Given the description of an element on the screen output the (x, y) to click on. 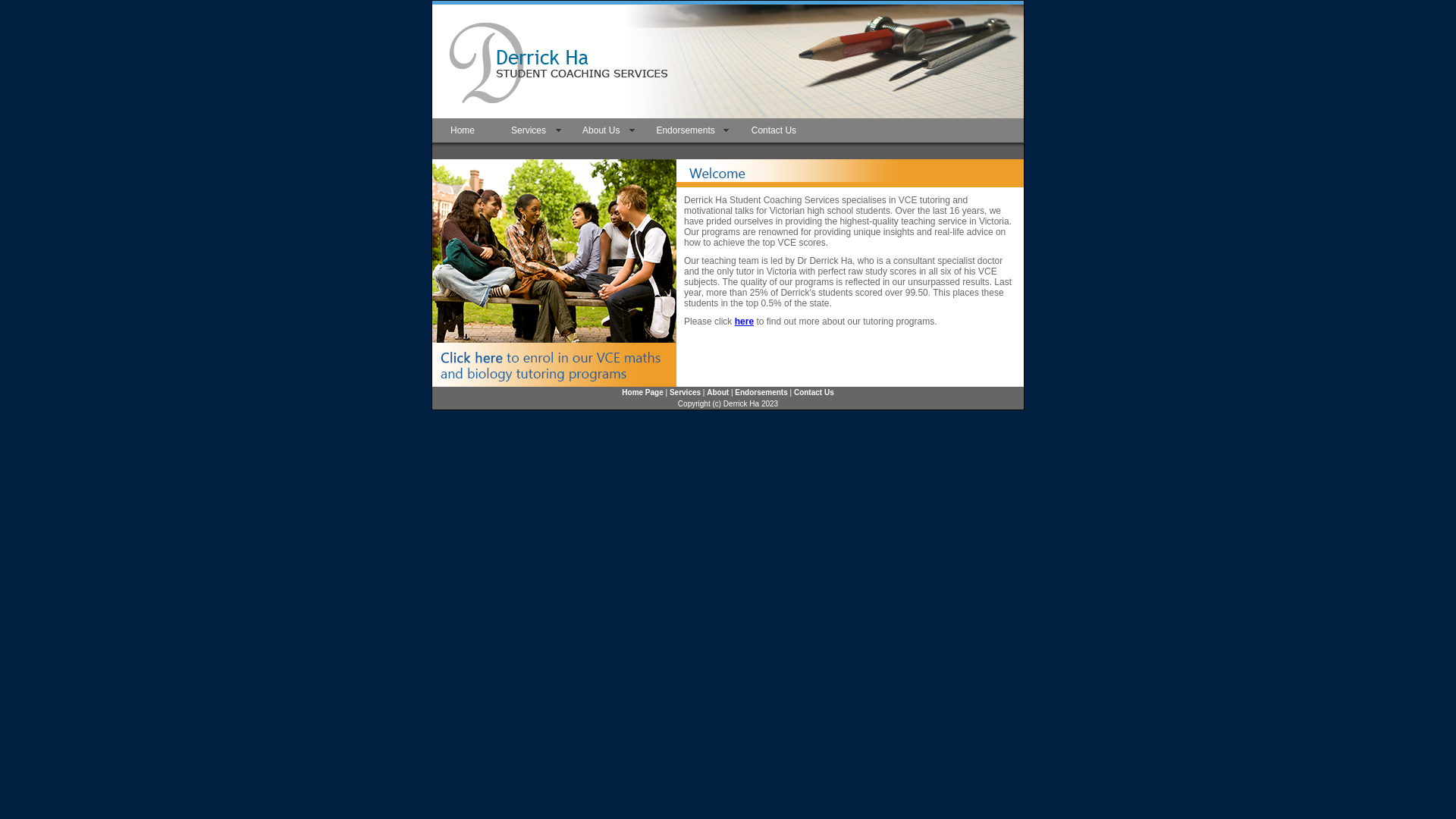
Endorsements Element type: text (760, 392)
About Us Element type: text (600, 130)
Home Element type: text (462, 130)
Contact Us Element type: text (773, 130)
Endorsements Element type: text (684, 130)
Home Page Element type: text (641, 392)
Services Element type: text (684, 392)
Services Element type: text (528, 130)
Contact Us Element type: text (813, 392)
About Element type: text (717, 392)
here Element type: text (743, 321)
